Given the description of an element on the screen output the (x, y) to click on. 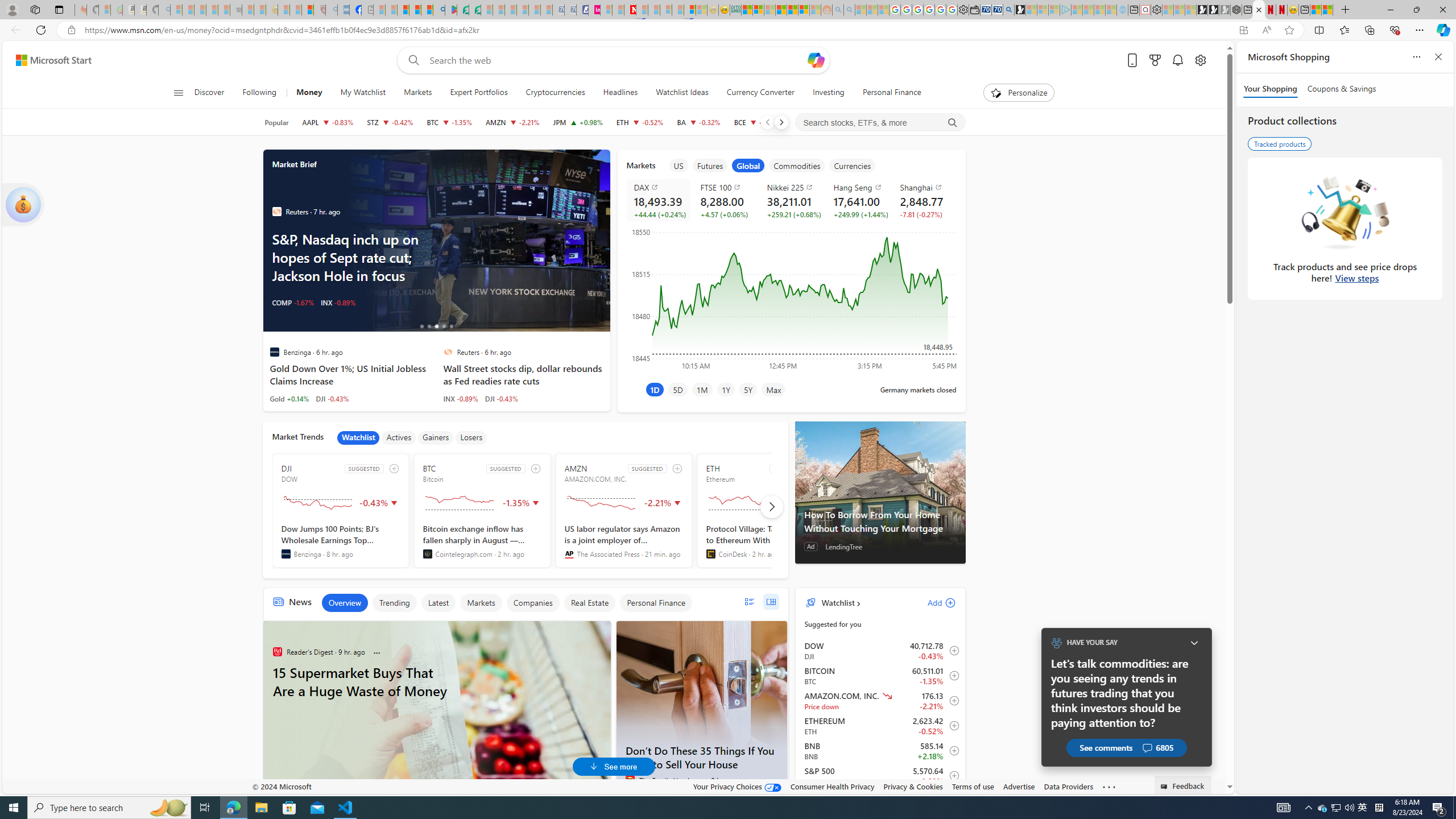
5D (677, 389)
DAX DAX increase 18,493.39 +44.44 +0.24% (658, 200)
Ad (279, 777)
Money (308, 92)
Shanghai Composite 000001 decrease 2,848.77 -7.81 -0.27% (924, 200)
Currency Converter (760, 92)
Nikkei 225 N225 increase 38,211.01 +259.21 +0.68% (791, 200)
AAPL APPLE INC. decrease 224.53 -1.87 -0.83% (328, 122)
Hang Seng HSI increase 17,641.00 +249.99 +1.44% (857, 200)
Overview (344, 602)
Watchlist (358, 437)
INX S&P 500 decrease 5,570.64 -50.21 -0.89% item5 (880, 775)
